Given the description of an element on the screen output the (x, y) to click on. 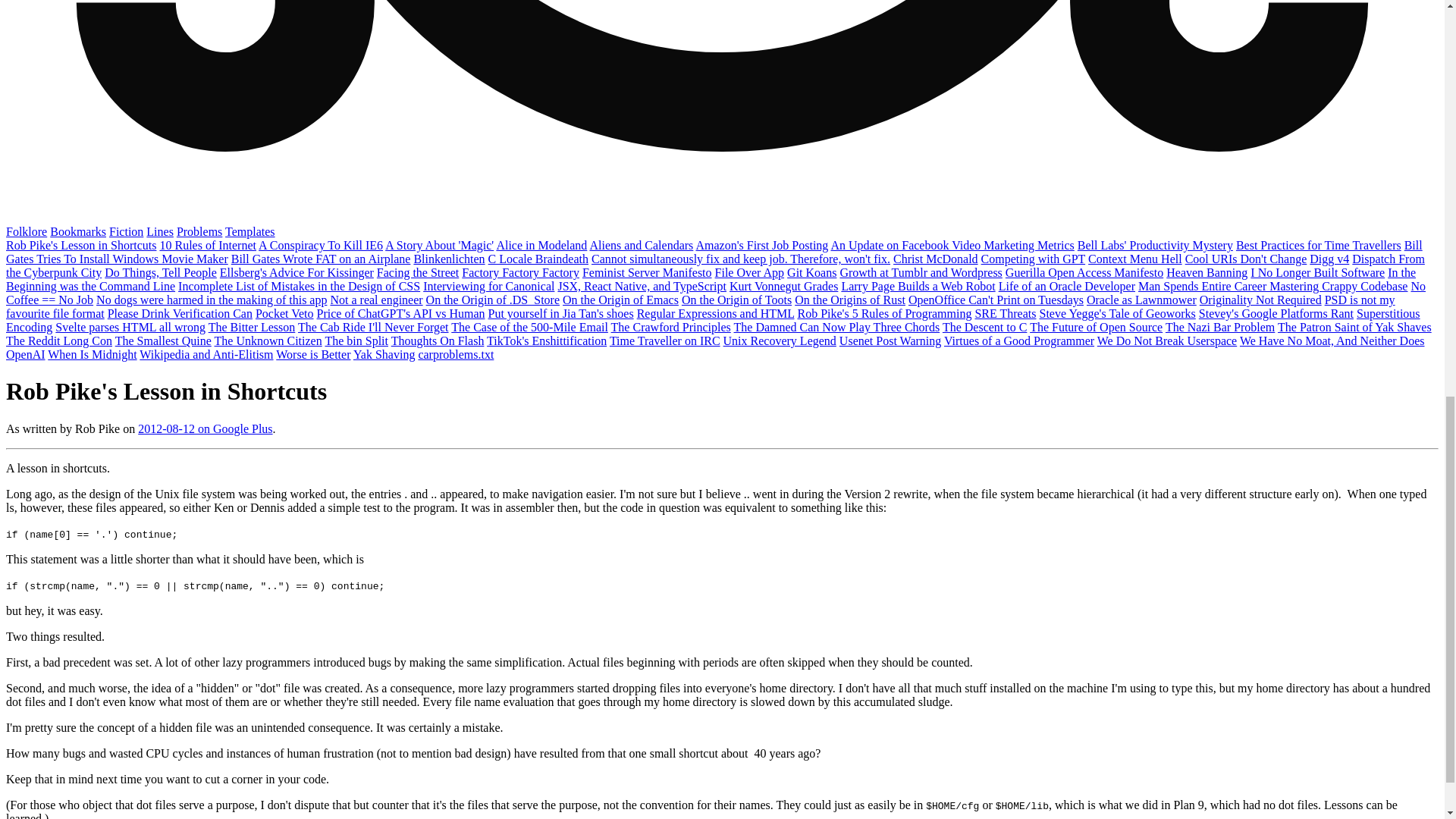
Growth at Tumblr and Wordpress (920, 272)
Best Practices for Time Travellers (1318, 245)
Alice in Modeland (541, 245)
Bell Labs' Productivity Mystery (1155, 245)
In the Beginning was the Command Line (710, 279)
Heaven Banning (1206, 272)
Competing with GPT (1033, 258)
Dispatch From the Cyberpunk City (715, 265)
10 Rules of Internet (207, 245)
C Locale Braindeath (537, 258)
Christ McDonald (935, 258)
Blinkenlichten (448, 258)
Guerilla Open Access Manifesto (1084, 272)
Bill Gates Wrote FAT on an Airplane (320, 258)
File Over App (749, 272)
